Given the description of an element on the screen output the (x, y) to click on. 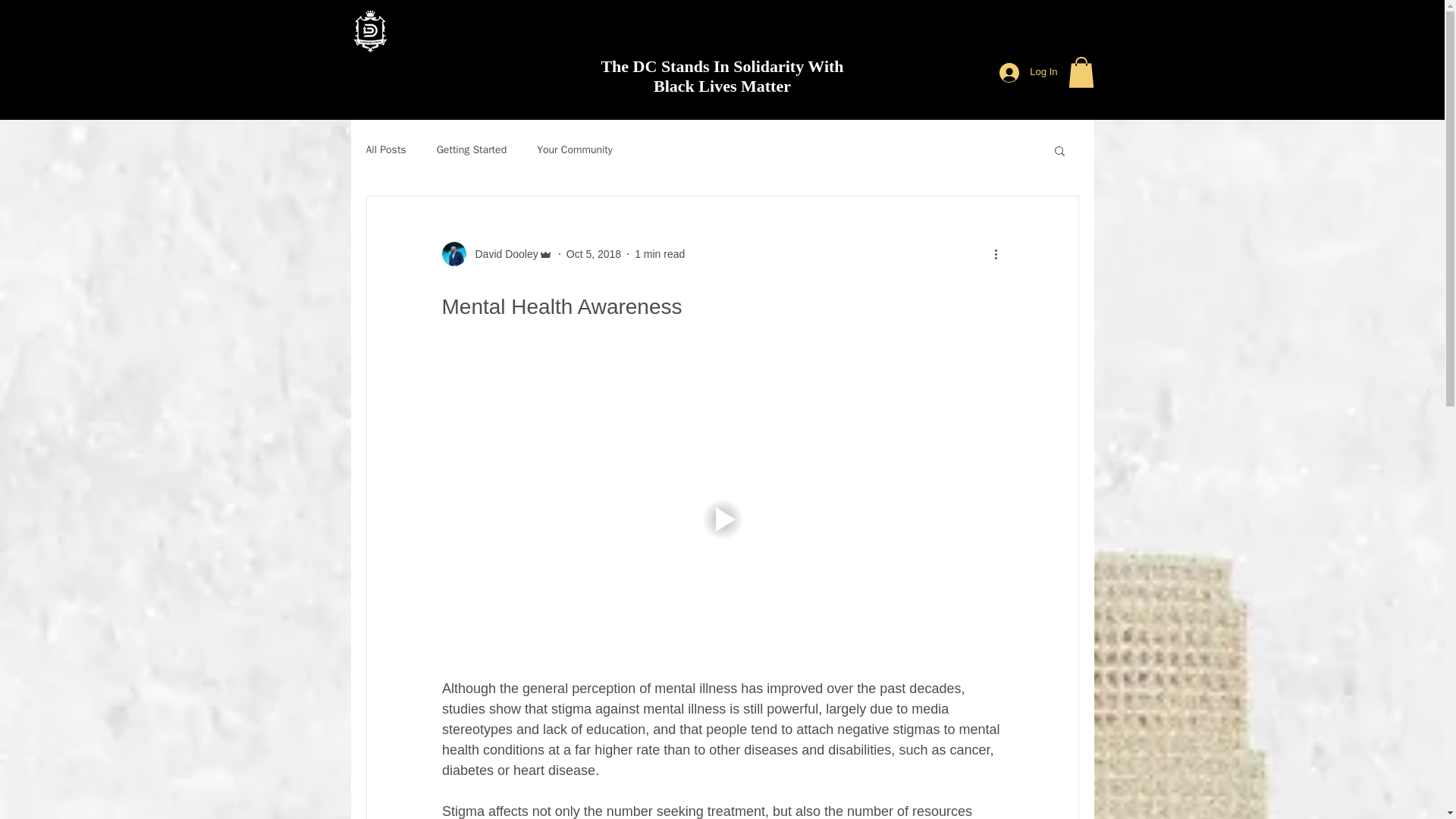
Your Community (574, 150)
David Dooley (501, 253)
All Posts (385, 150)
Getting Started (471, 150)
1 min read (659, 253)
David Dooley (496, 253)
Log In (1027, 71)
Oct 5, 2018 (593, 253)
